Given the description of an element on the screen output the (x, y) to click on. 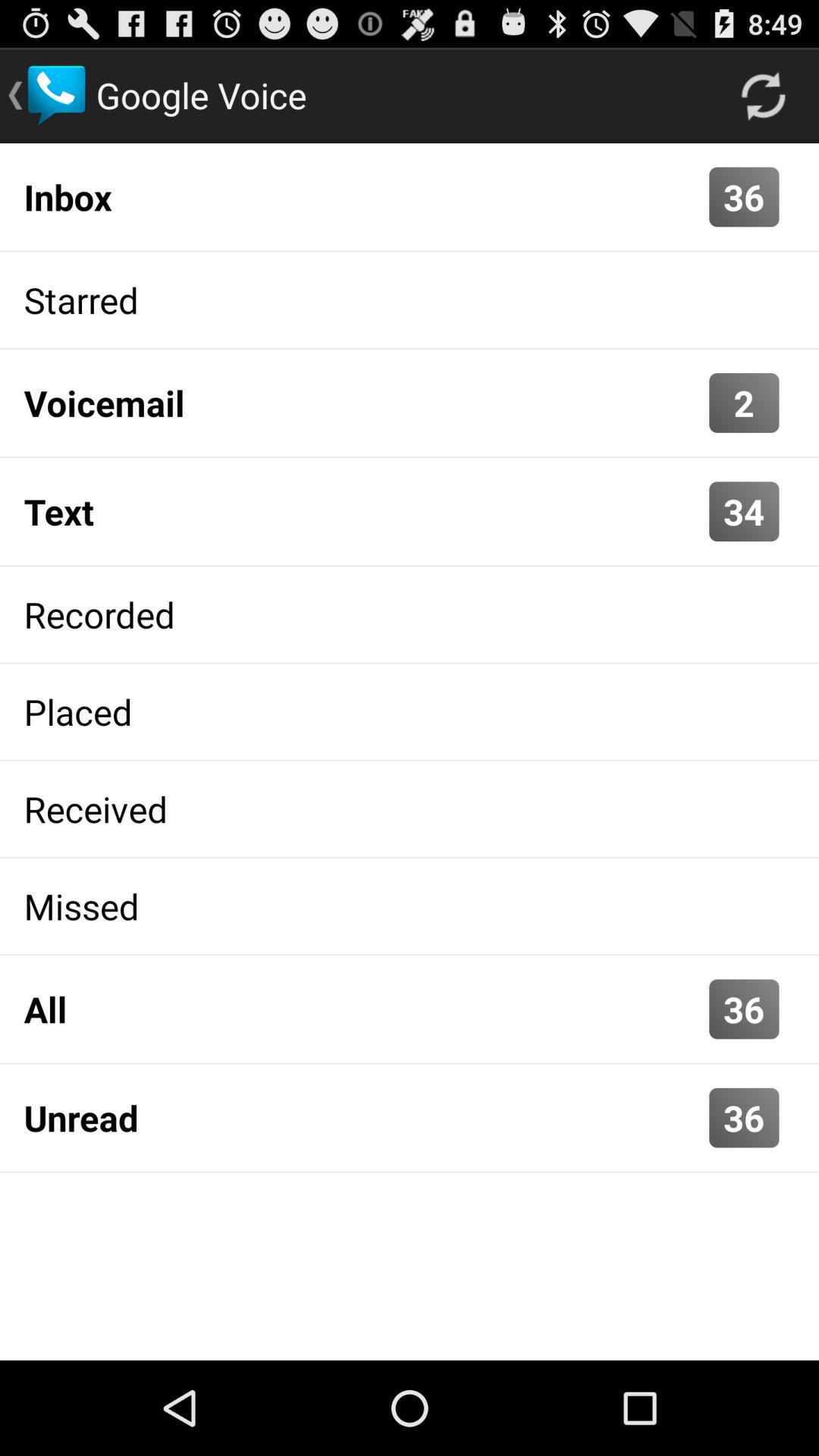
jump to the 34 icon (744, 511)
